Given the description of an element on the screen output the (x, y) to click on. 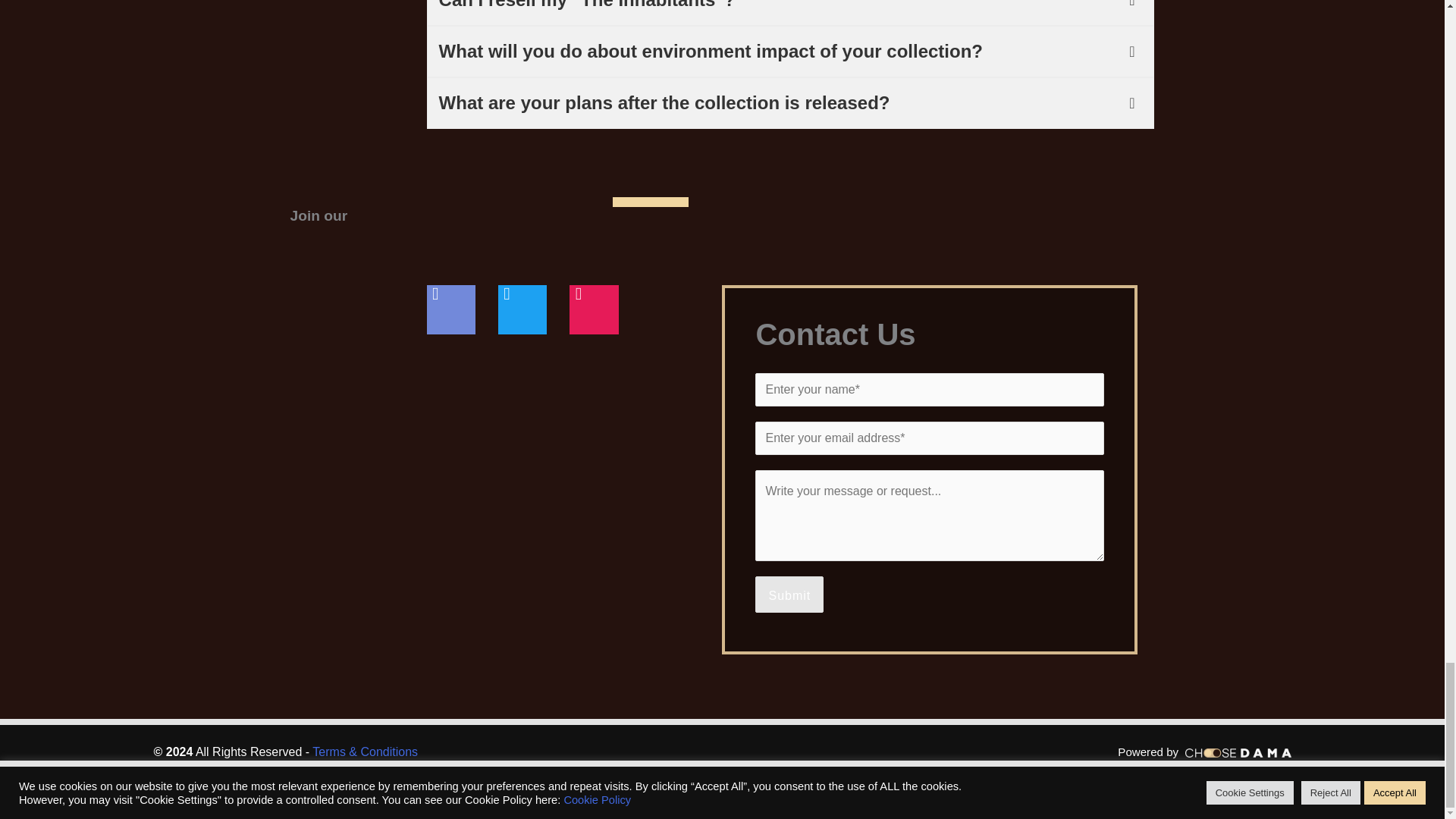
Twitter (522, 309)
Discord (451, 309)
Instagram (593, 309)
